Given the description of an element on the screen output the (x, y) to click on. 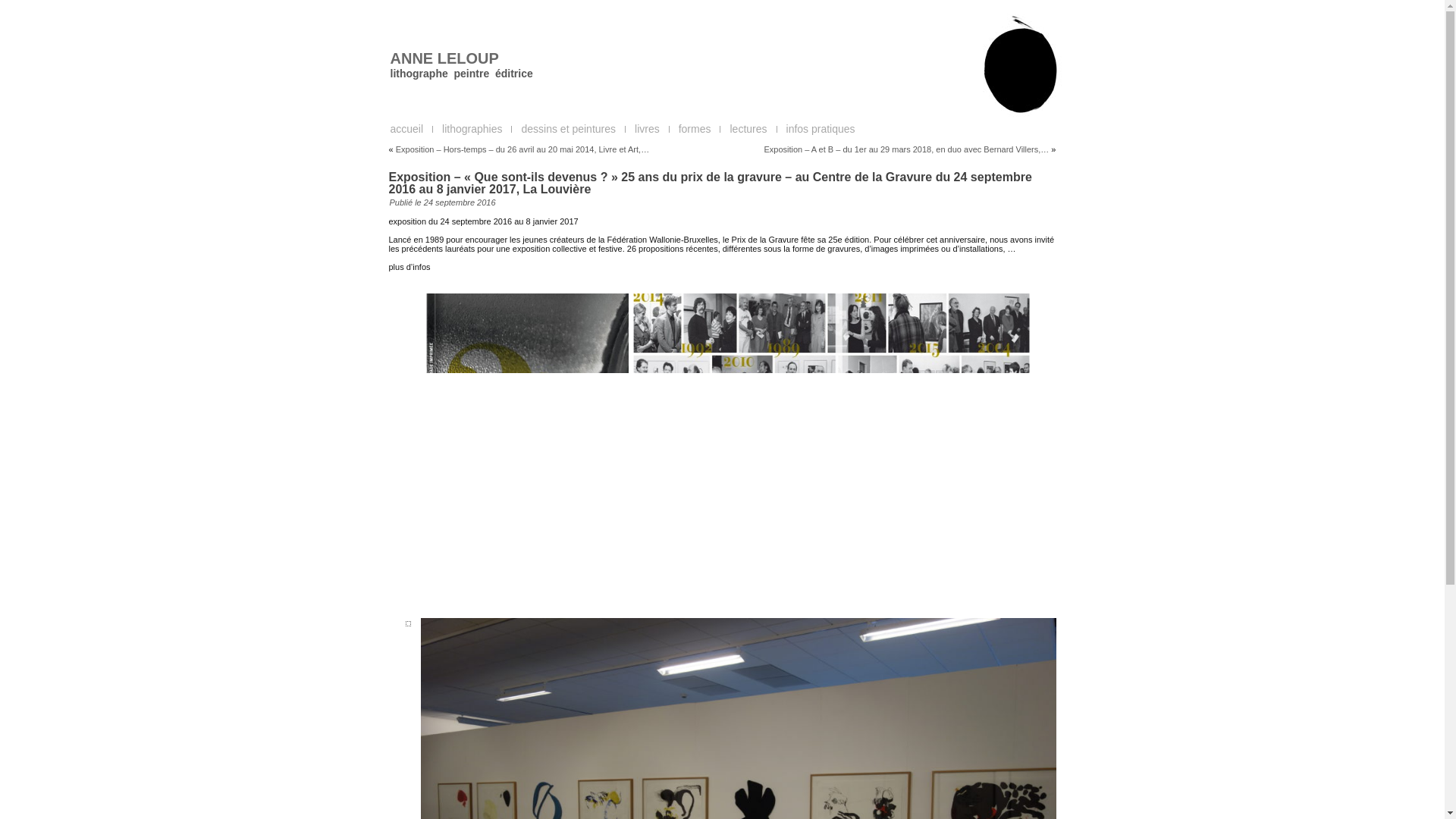
dessins et peintures Element type: text (567, 129)
formes Element type: text (694, 129)
lithographies Element type: text (472, 129)
livres Element type: text (646, 129)
lectures Element type: text (747, 129)
infos pratiques Element type: text (820, 129)
accueil Element type: text (406, 129)
ANNE LELOUP Element type: text (443, 58)
